Given the description of an element on the screen output the (x, y) to click on. 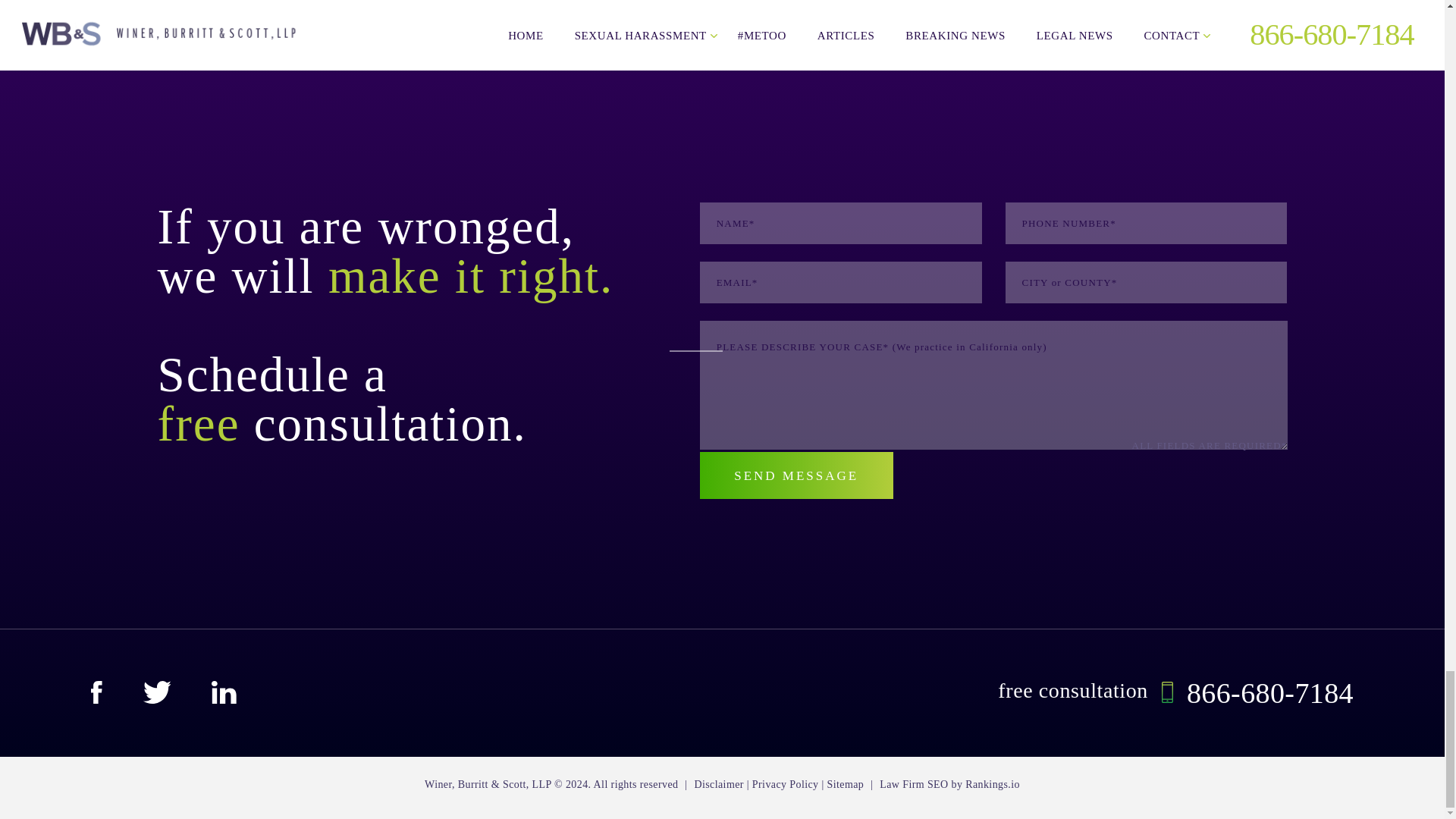
SEND MESSAGE (796, 475)
